Given the description of an element on the screen output the (x, y) to click on. 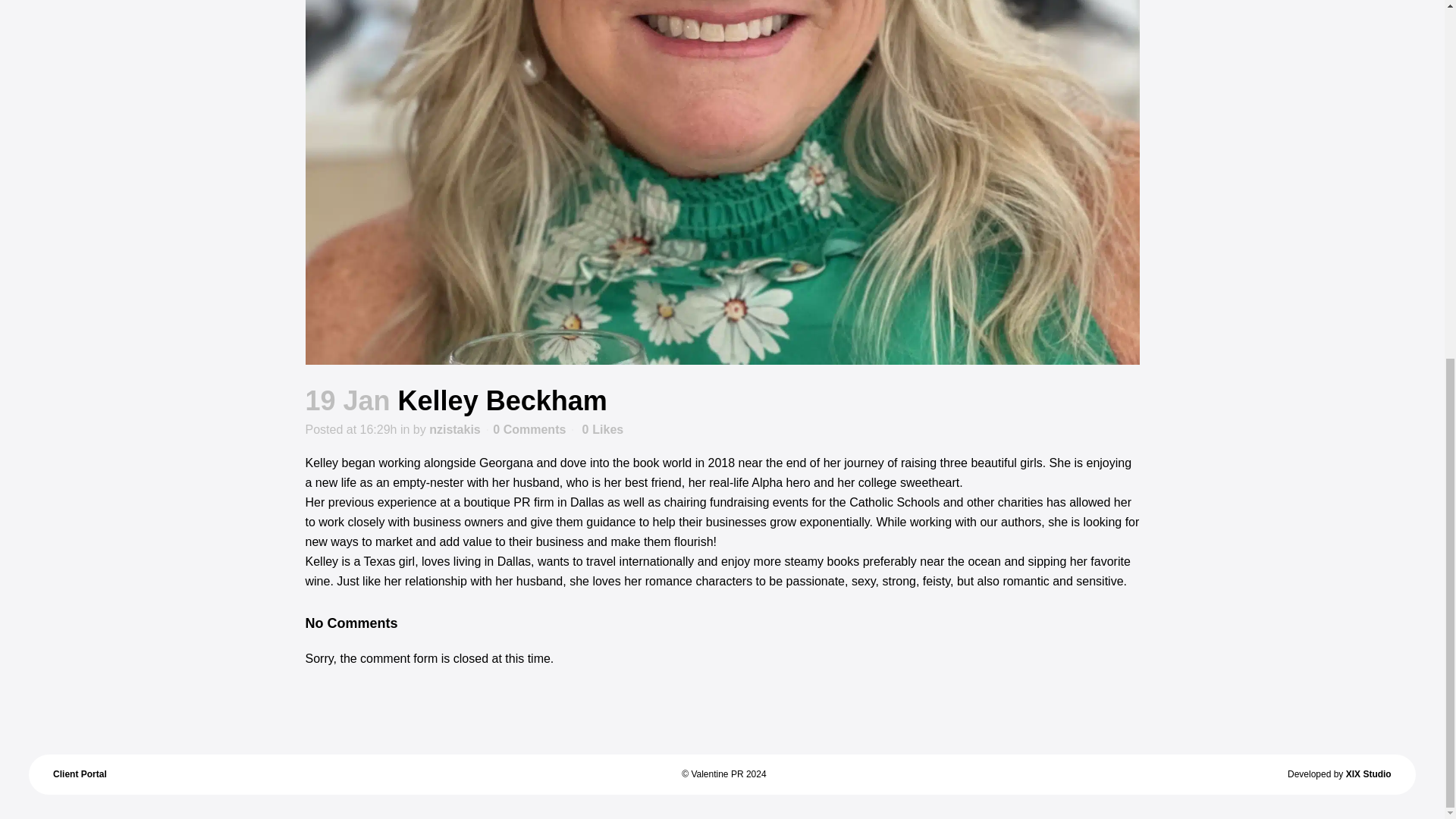
XIX Studio (1368, 774)
Client Portal (79, 774)
Like this (601, 429)
0 Comments (529, 429)
nzistakis (454, 429)
0 Likes (601, 429)
